Given the description of an element on the screen output the (x, y) to click on. 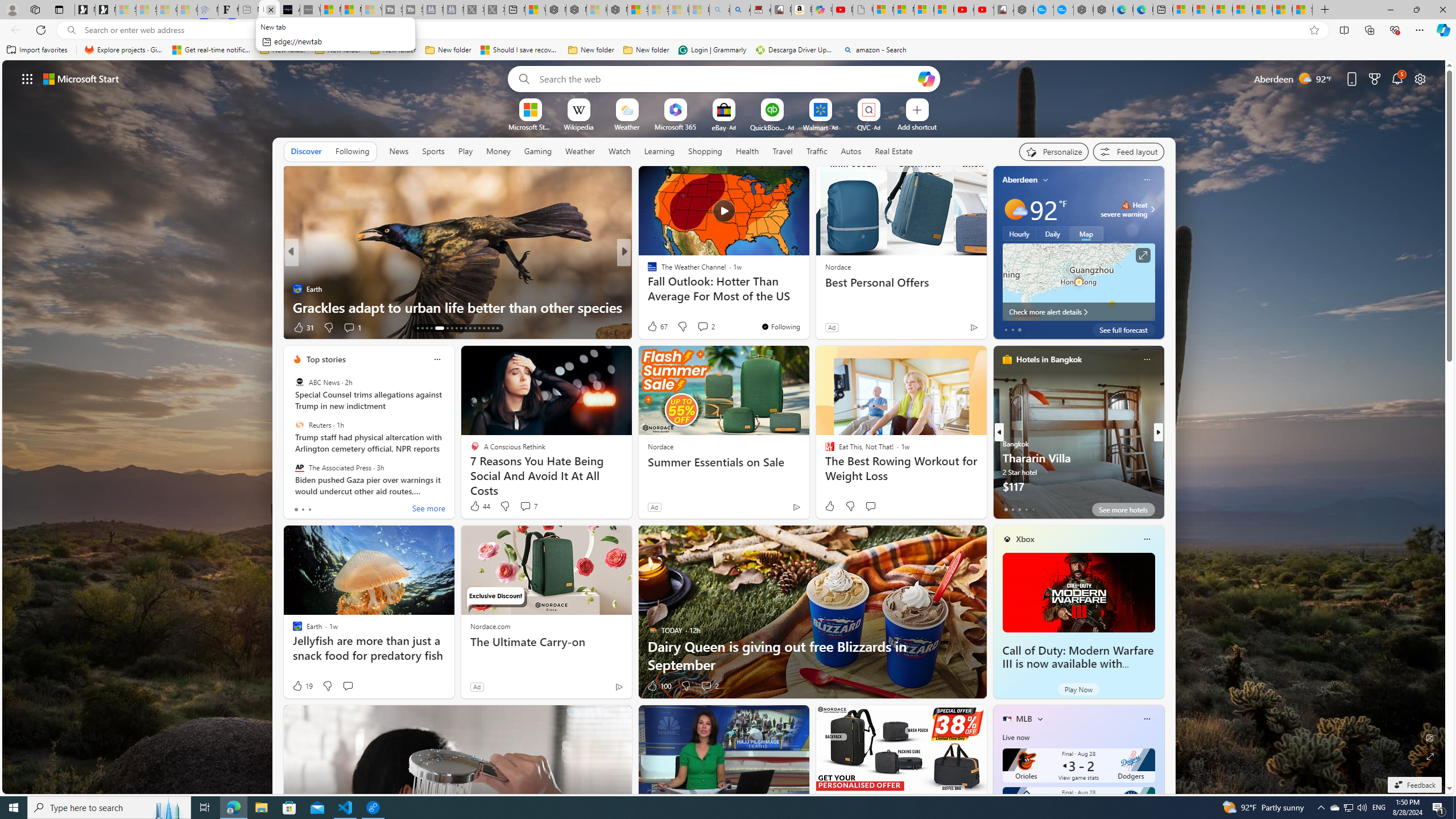
Descarga Driver Updater (794, 49)
View comments 11 Comment (703, 327)
Learning (658, 151)
128 Like (654, 327)
Open Copilot (926, 78)
Best Personal Offers (900, 282)
You're following The Weather Channel (780, 326)
Click to see more information (1142, 255)
View comments 124 Comment (709, 327)
Add this page to favorites (Ctrl+D) (1314, 29)
More options (1146, 718)
AutomationID: tab-21 (436, 328)
View comments 7 Comment (528, 505)
Play (465, 151)
